Given the description of an element on the screen output the (x, y) to click on. 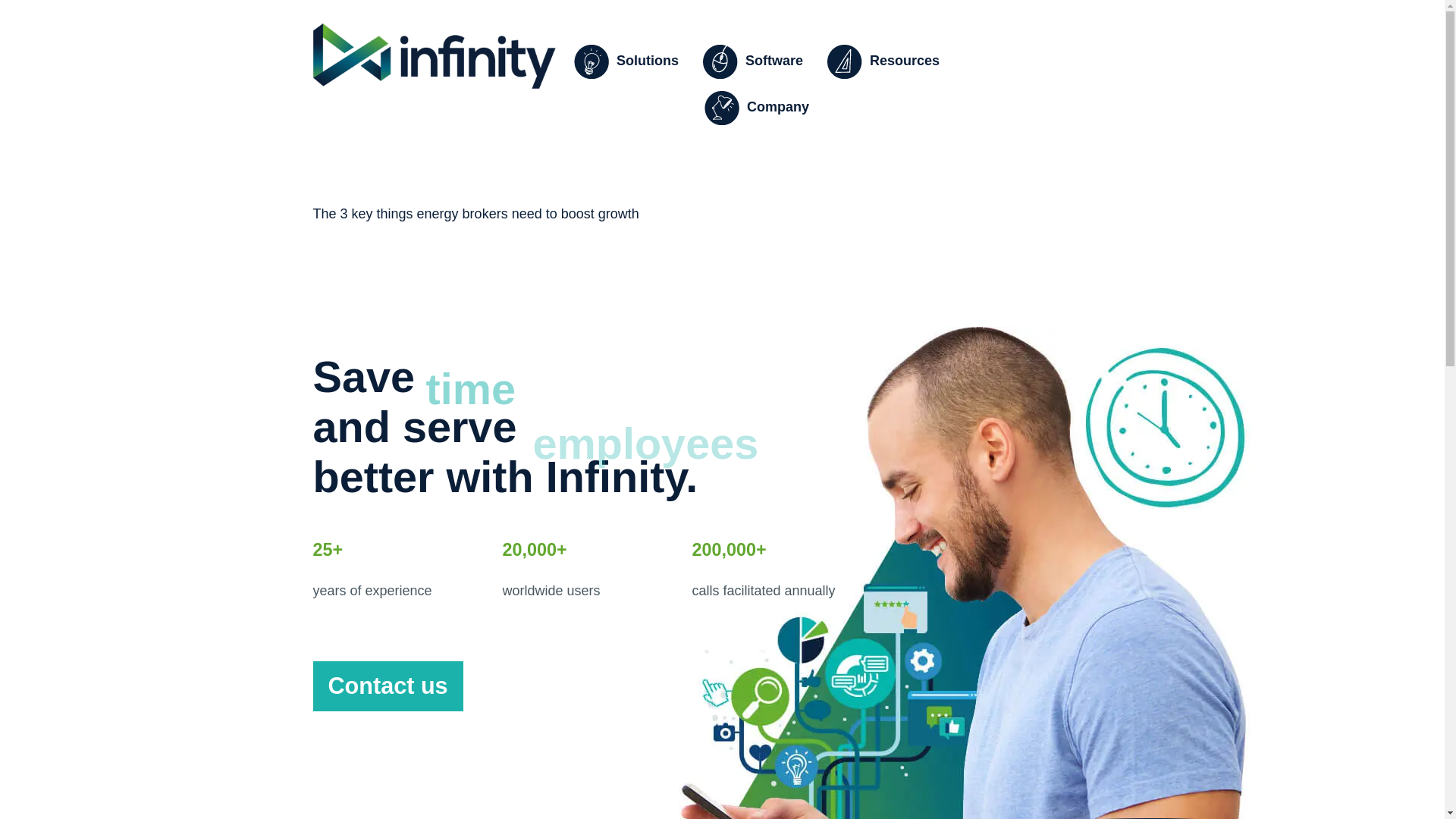
Solutions (629, 61)
Infinity company details (760, 107)
